Given the description of an element on the screen output the (x, y) to click on. 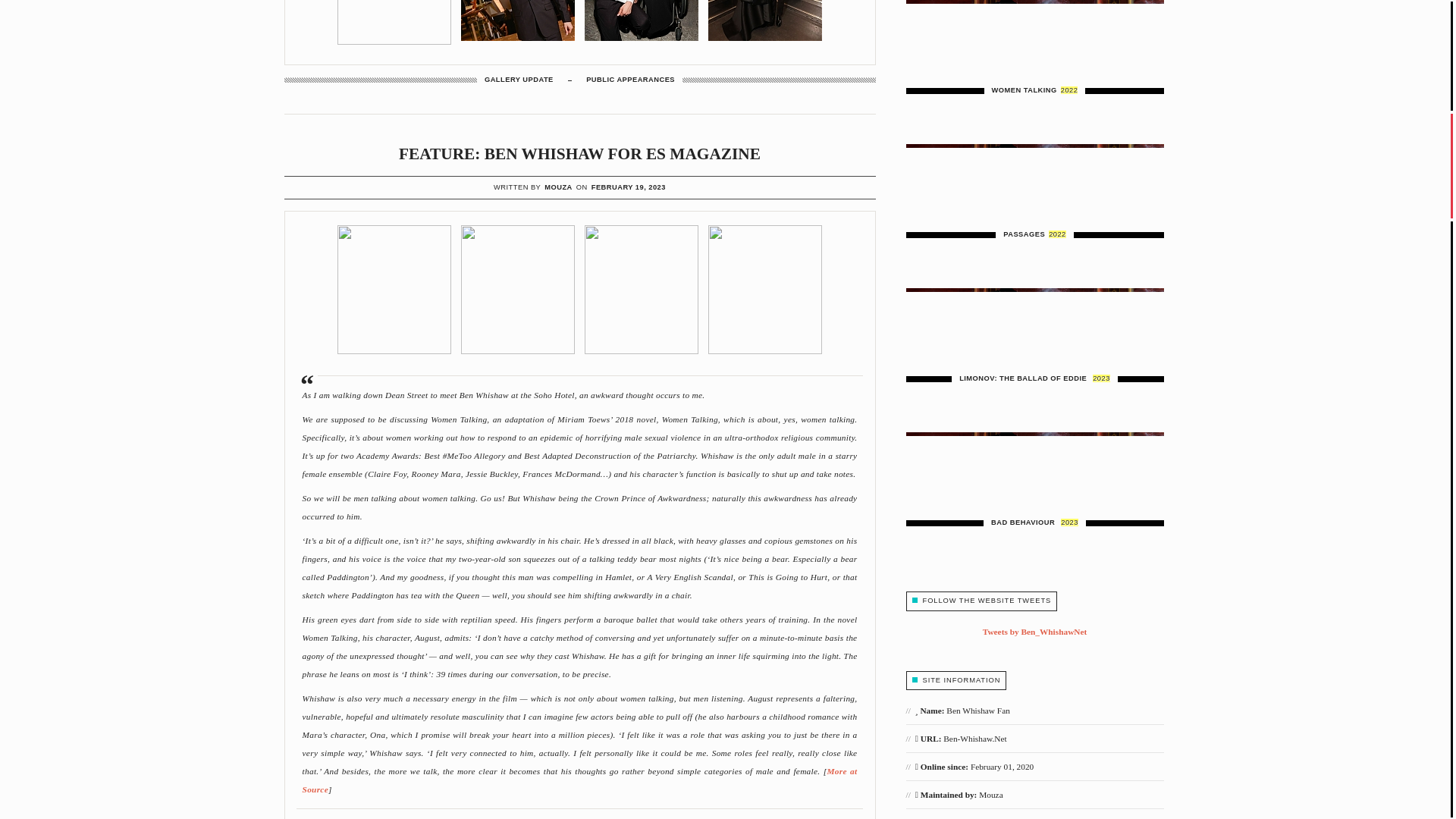
More at Source (579, 779)
Permanent Link to Feature: Ben Whishaw for ES Magazine (579, 153)
PUBLIC APPEARANCES (630, 79)
GALLERY UPDATE (518, 79)
FEATURE: BEN WHISHAW FOR ES MAGAZINE (579, 153)
